Given the description of an element on the screen output the (x, y) to click on. 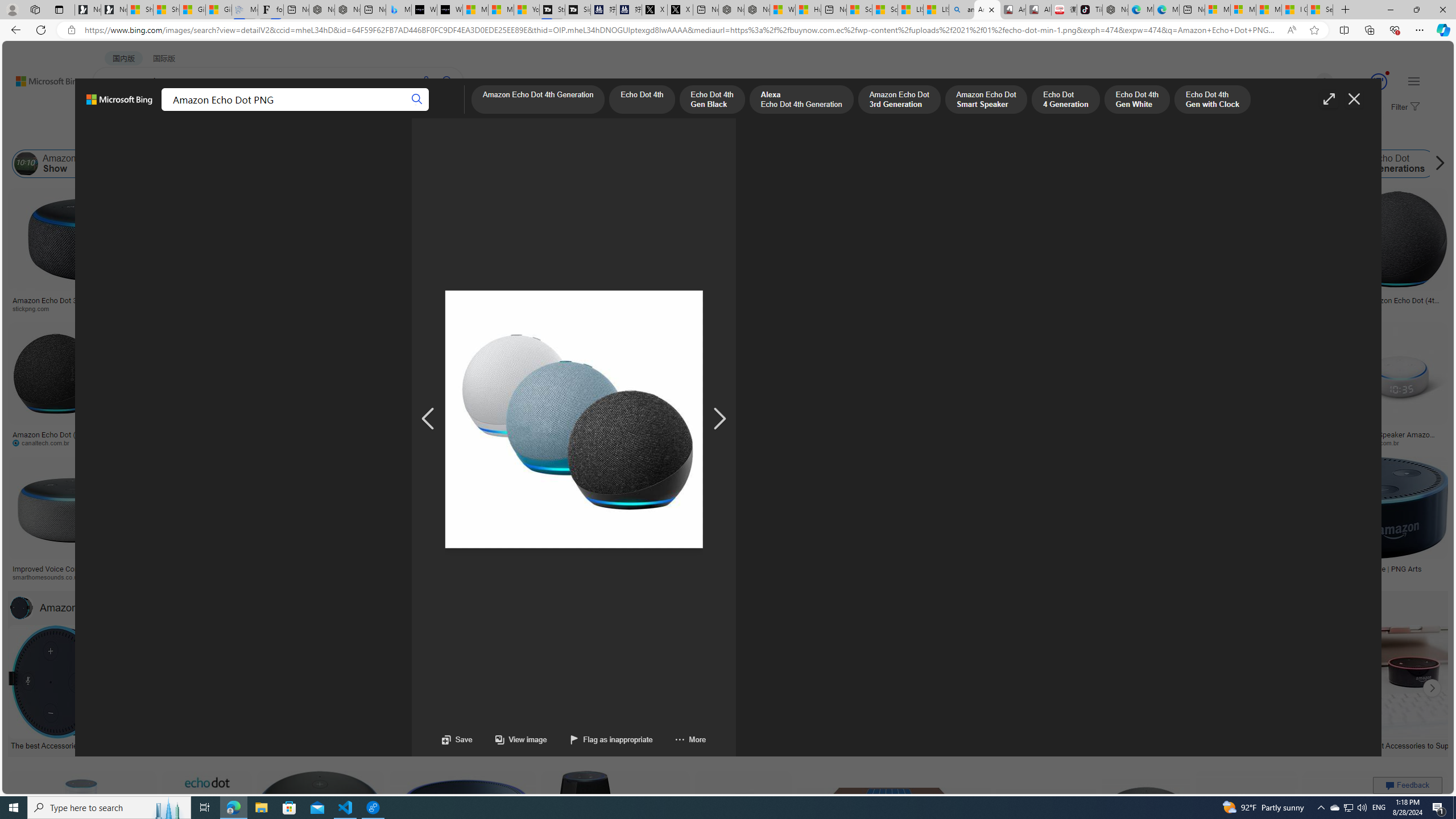
Color (173, 135)
License (378, 135)
MAPS (397, 111)
Amazon Echo Dot 3rd (326, 163)
MAPS (397, 111)
Amazon Echo Dot 3 (1278, 163)
